Given the description of an element on the screen output the (x, y) to click on. 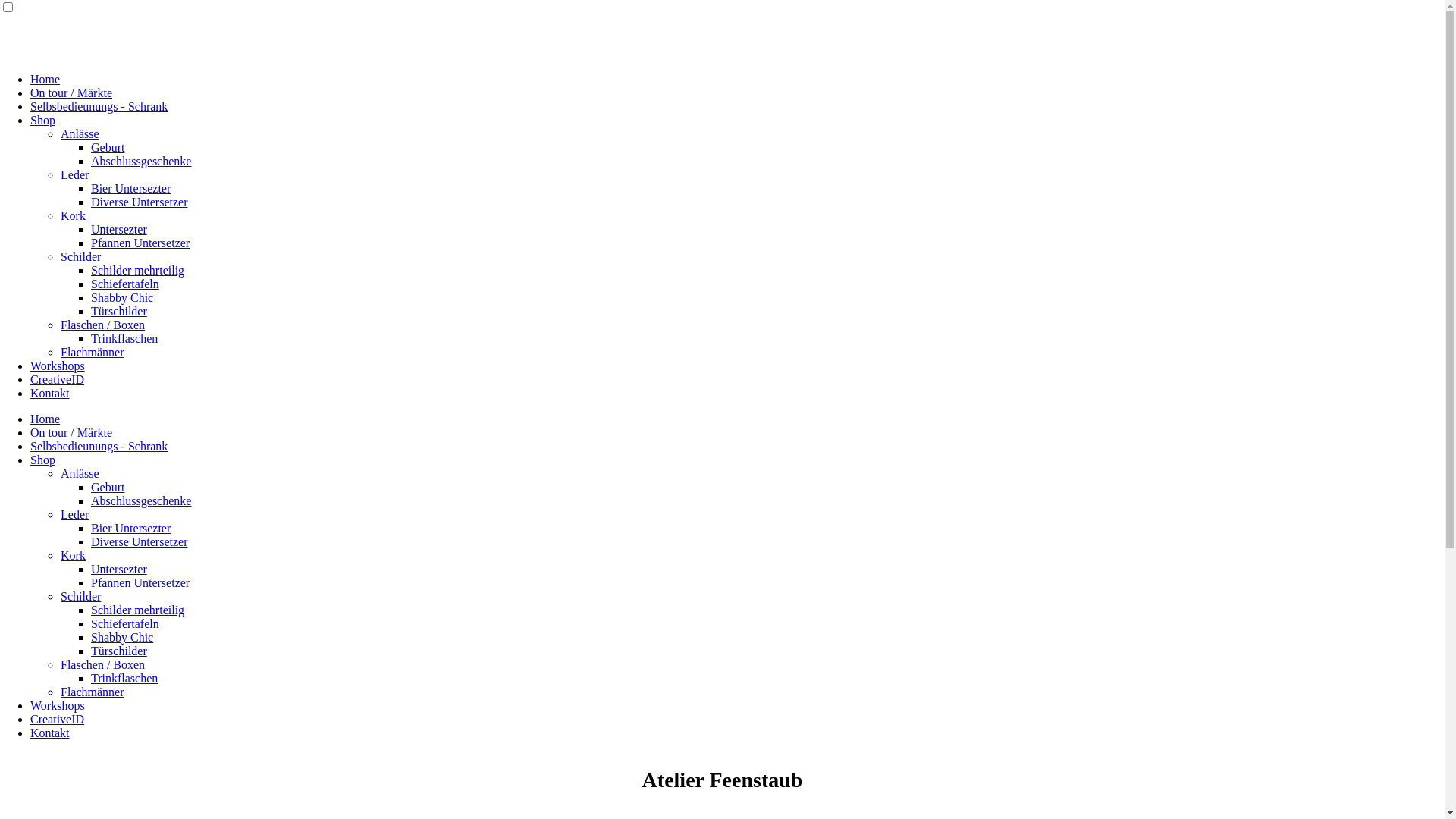
Abschlussgeschenke Element type: text (141, 500)
Flaschen / Boxen Element type: text (102, 324)
Shabby Chic Element type: text (122, 297)
Schiefertafeln Element type: text (125, 623)
Home Element type: text (44, 418)
Shop Element type: text (42, 459)
Pfannen Untersetzer Element type: text (140, 582)
Untersezter Element type: text (119, 568)
Abschlussgeschenke Element type: text (141, 160)
Diverse Untersetzer Element type: text (139, 201)
Selbsbedieunungs - Schrank Element type: text (98, 445)
Leder Element type: text (74, 514)
Kork Element type: text (72, 555)
Kontakt Element type: text (49, 732)
Selbsbedieunungs - Schrank Element type: text (98, 106)
Trinkflaschen Element type: text (124, 677)
Schilder Element type: text (80, 256)
Bier Untersezter Element type: text (130, 188)
Kork Element type: text (72, 215)
Workshops Element type: text (57, 365)
Trinkflaschen Element type: text (124, 338)
Bier Untersezter Element type: text (130, 527)
Geburt Element type: text (107, 147)
Leder Element type: text (74, 174)
Schilder mehrteilig Element type: text (137, 269)
CreativeID Element type: text (57, 718)
Pfannen Untersetzer Element type: text (140, 242)
Shop Element type: text (42, 119)
Geburt Element type: text (107, 486)
Kontakt Element type: text (49, 392)
Diverse Untersetzer Element type: text (139, 541)
Home Element type: text (44, 78)
Schilder mehrteilig Element type: text (137, 609)
Workshops Element type: text (57, 705)
Schilder Element type: text (80, 595)
Shabby Chic Element type: text (122, 636)
Untersezter Element type: text (119, 228)
CreativeID Element type: text (57, 379)
Flaschen / Boxen Element type: text (102, 664)
Schiefertafeln Element type: text (125, 283)
